Given the description of an element on the screen output the (x, y) to click on. 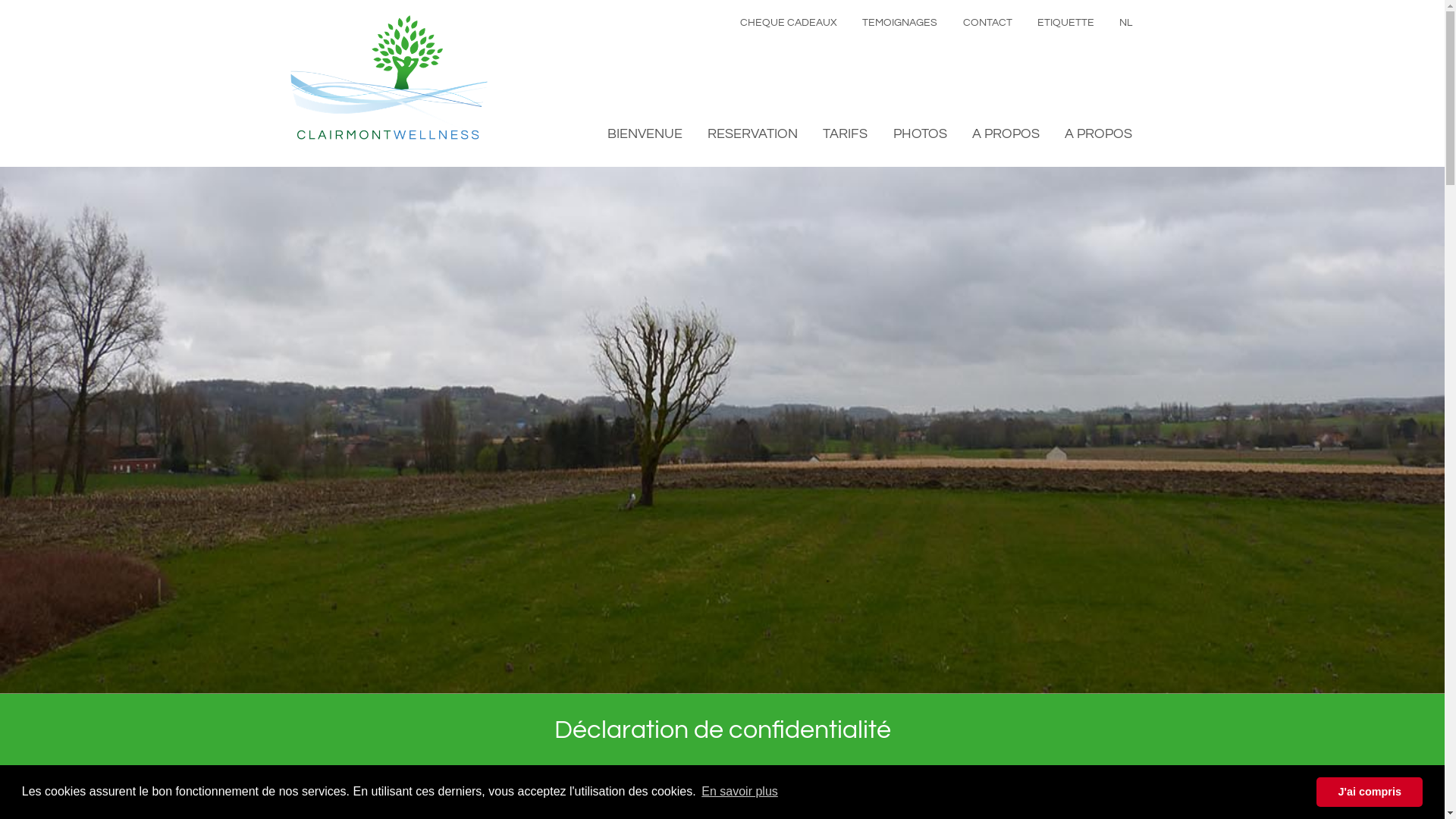
A PROPOS Element type: text (1098, 133)
RESERVATION Element type: text (752, 133)
TARIFS Element type: text (844, 133)
TEMOIGNAGES Element type: text (899, 22)
En savoir plus Element type: text (739, 791)
CHEQUE CADEAUX Element type: text (788, 22)
A PROPOS Element type: text (1005, 133)
CONTACT Element type: text (987, 22)
ETIQUETTE Element type: text (1065, 22)
NL Element type: text (1125, 22)
BIENVENUE Element type: text (644, 133)
PHOTOS Element type: text (920, 133)
J'ai compris Element type: text (1369, 791)
